Given the description of an element on the screen output the (x, y) to click on. 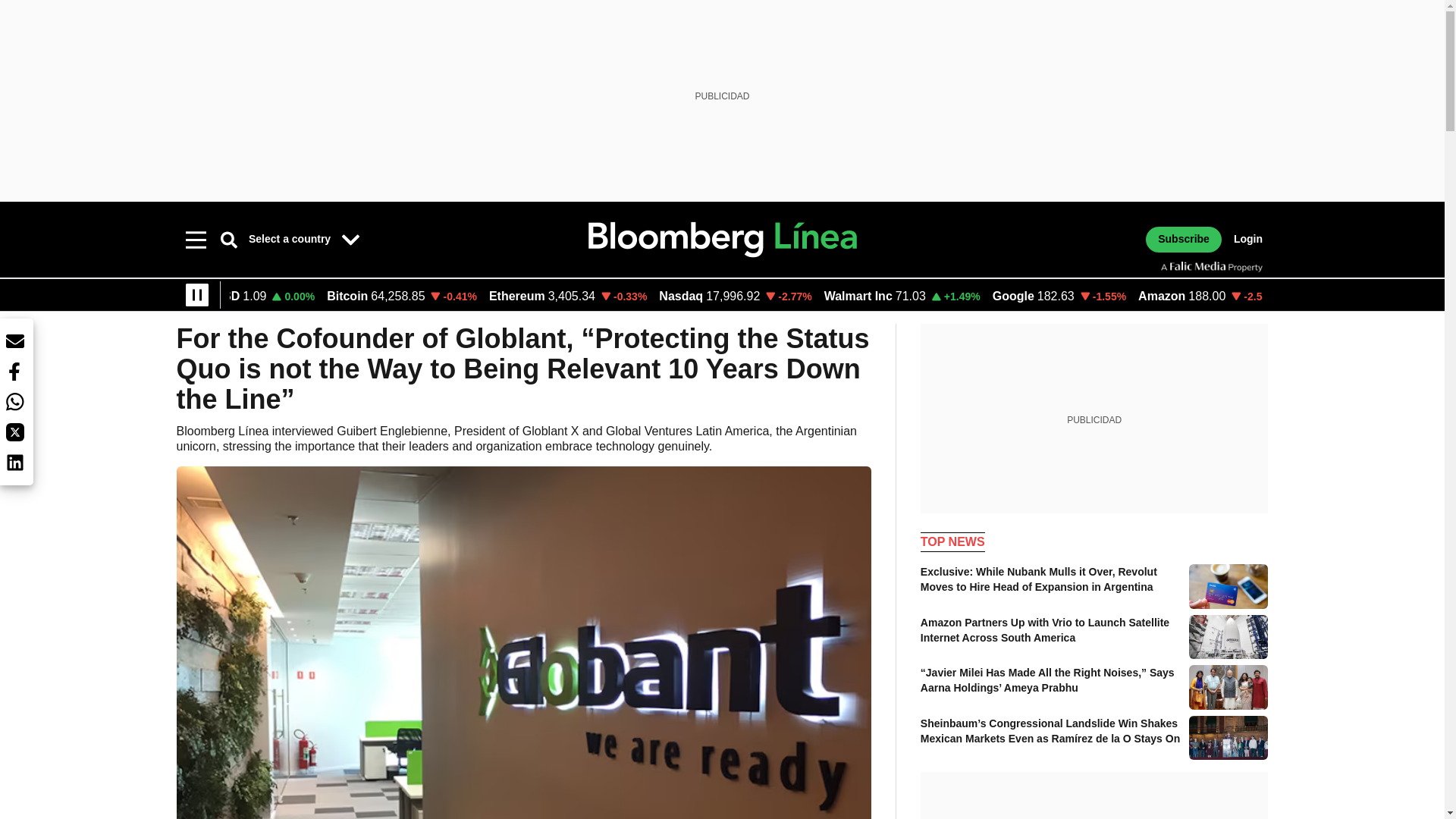
Login (1247, 239)
Subscribe (1183, 239)
